Given the description of an element on the screen output the (x, y) to click on. 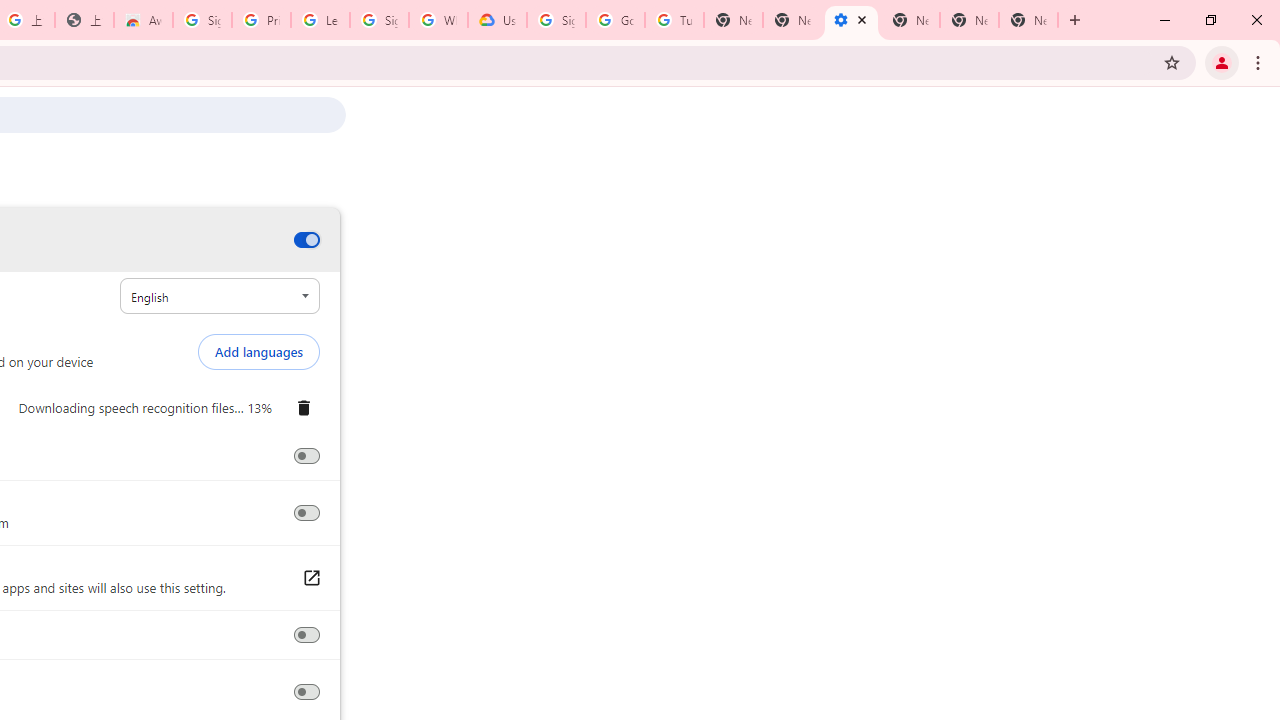
Navigate pages with a text cursor (306, 692)
Show a quick highlight on the focused object (306, 635)
New Tab (1028, 20)
Settings - Accessibility (850, 20)
Remove English (303, 407)
Who are Google's partners? - Privacy and conditions - Google (438, 20)
Sign in - Google Accounts (201, 20)
Sign in - Google Accounts (556, 20)
Sign in - Google Accounts (379, 20)
Preferred caption language (219, 296)
